Given the description of an element on the screen output the (x, y) to click on. 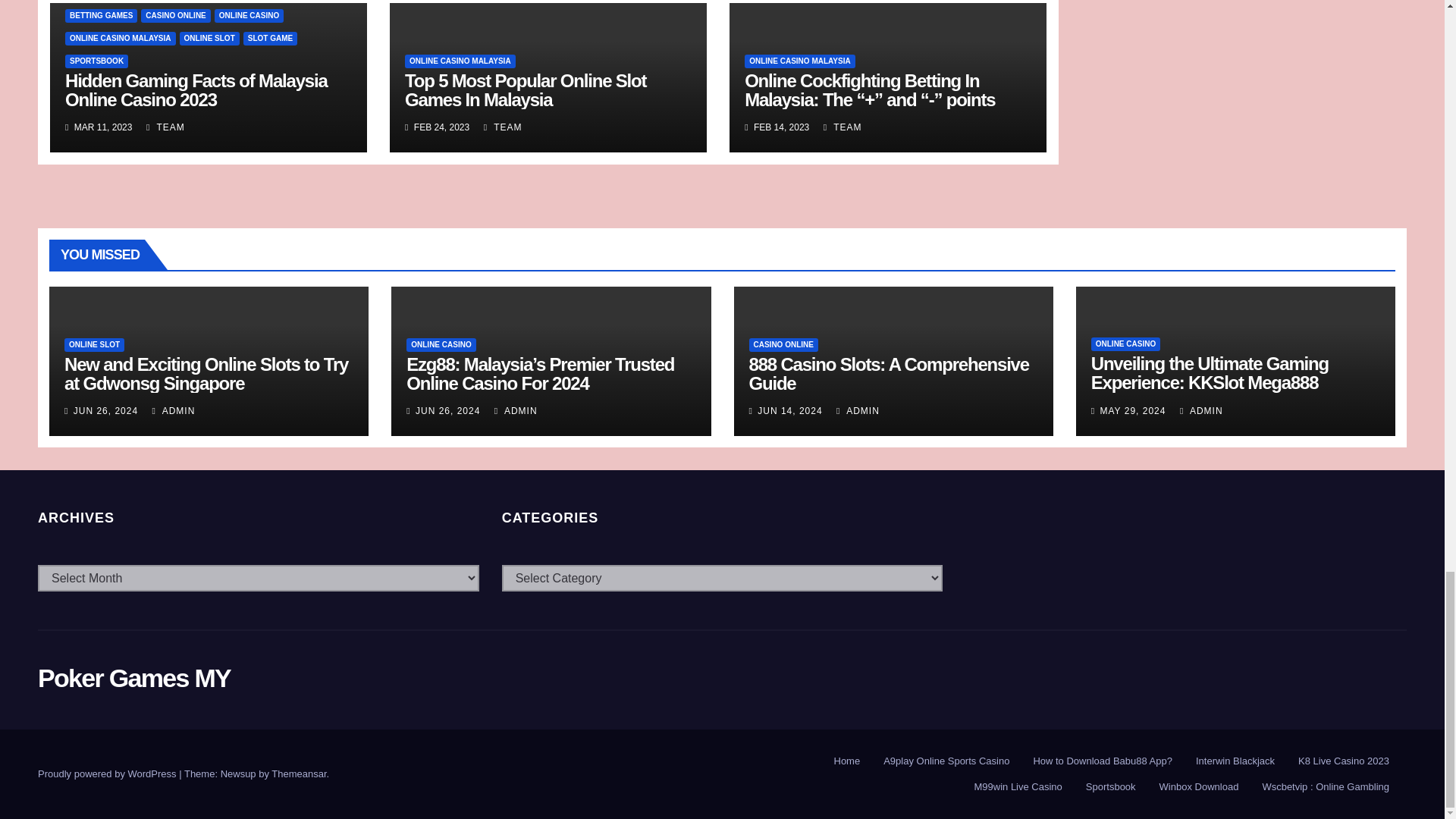
Home (847, 760)
Permalink to: 888 Casino Slots: A Comprehensive Guide (889, 373)
BETTING GAMES (100, 15)
